Given the description of an element on the screen output the (x, y) to click on. 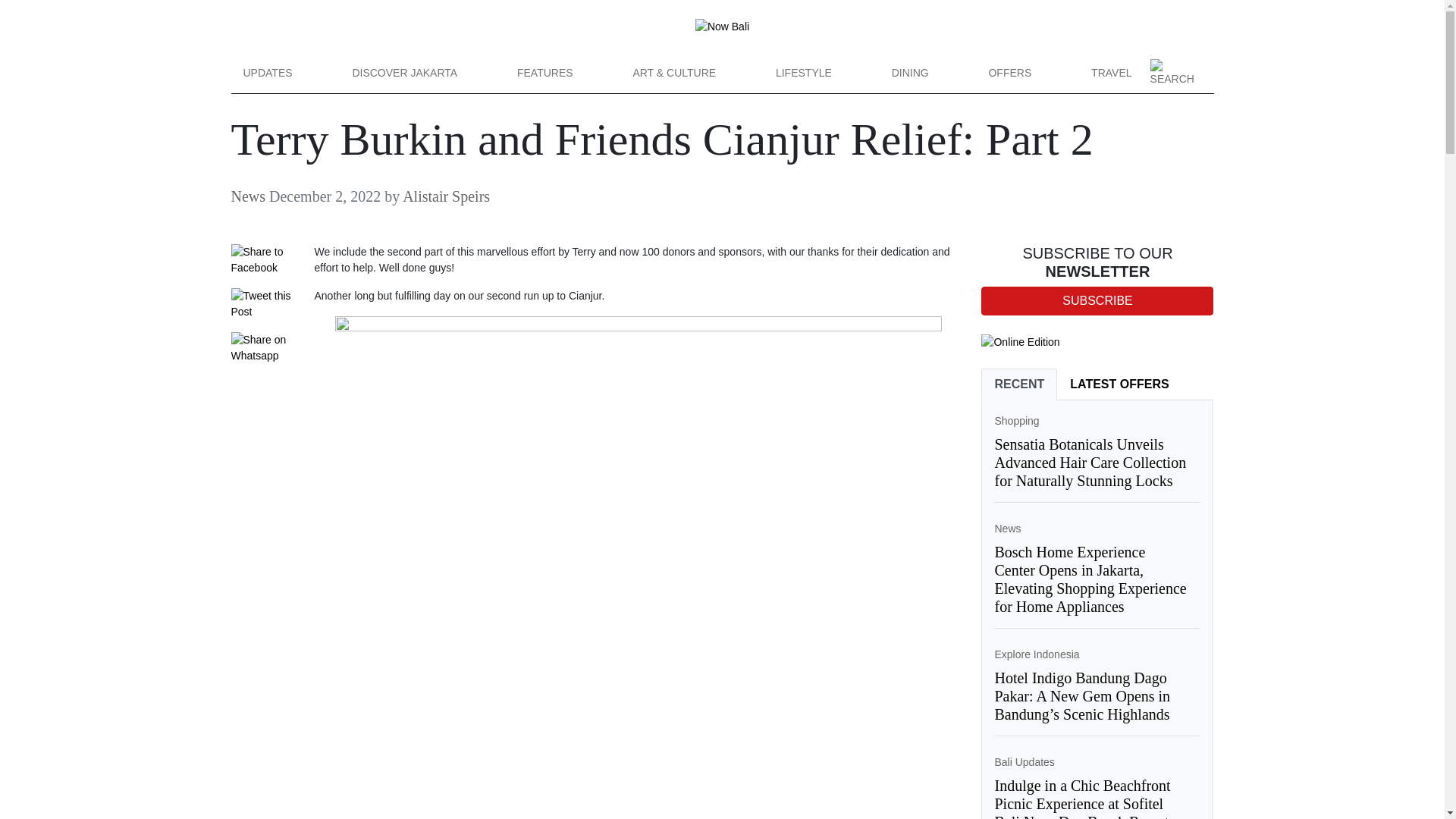
OFFERS (1009, 72)
Bali Updates (1024, 761)
News (1007, 528)
Shopping (1016, 420)
RECENT (1019, 384)
SUBSCRIBE (1096, 300)
Explore Indonesia (1036, 654)
FEATURES (545, 72)
TRAVEL (1110, 72)
LIFESTYLE (803, 72)
UPDATES (267, 72)
News (247, 196)
Alistair Speirs (446, 196)
